Given the description of an element on the screen output the (x, y) to click on. 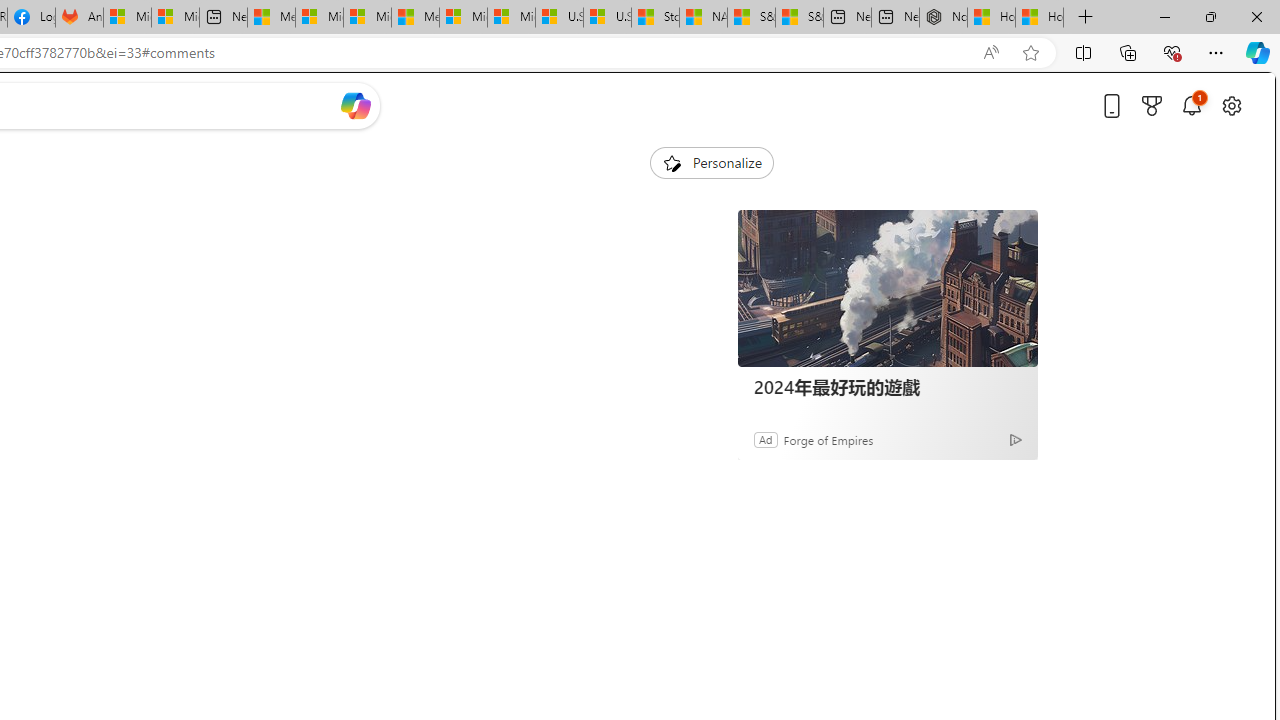
Personalize (711, 162)
